Given the description of an element on the screen output the (x, y) to click on. 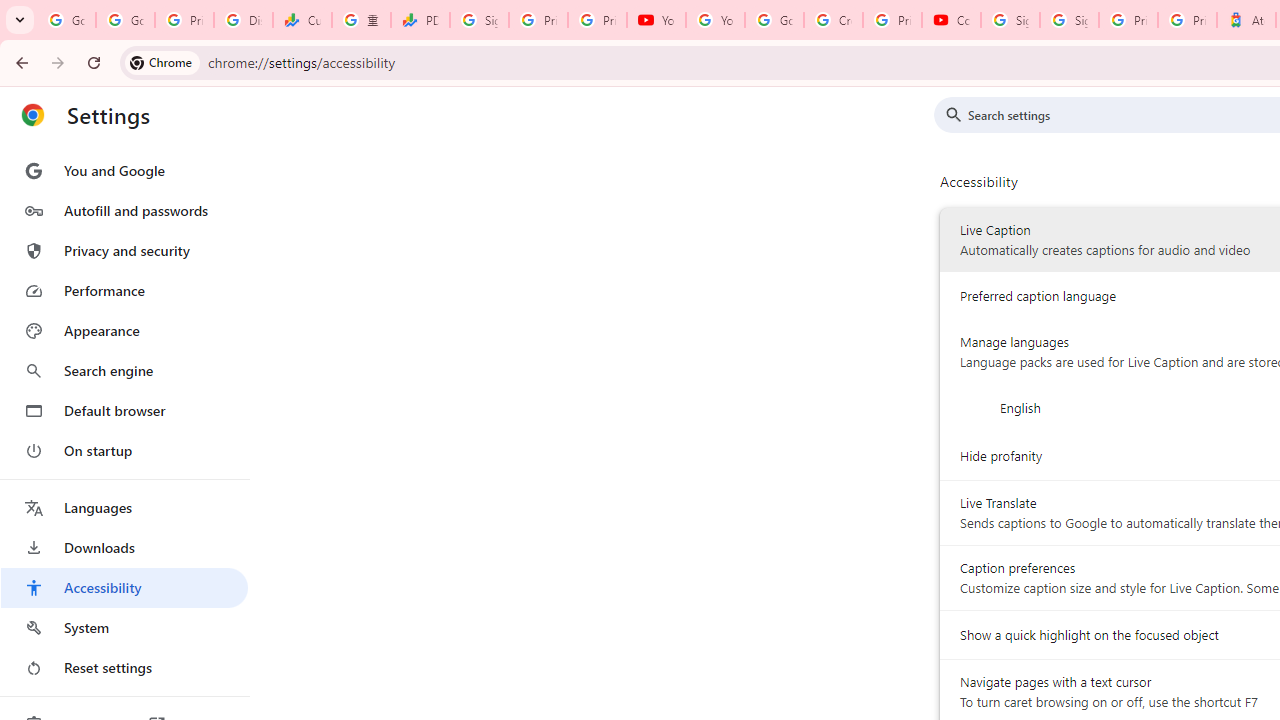
Languages (124, 507)
Search engine (124, 370)
Performance (124, 290)
Appearance (124, 331)
Currencies - Google Finance (301, 20)
YouTube (656, 20)
YouTube (715, 20)
Accessibility (124, 587)
